Given the description of an element on the screen output the (x, y) to click on. 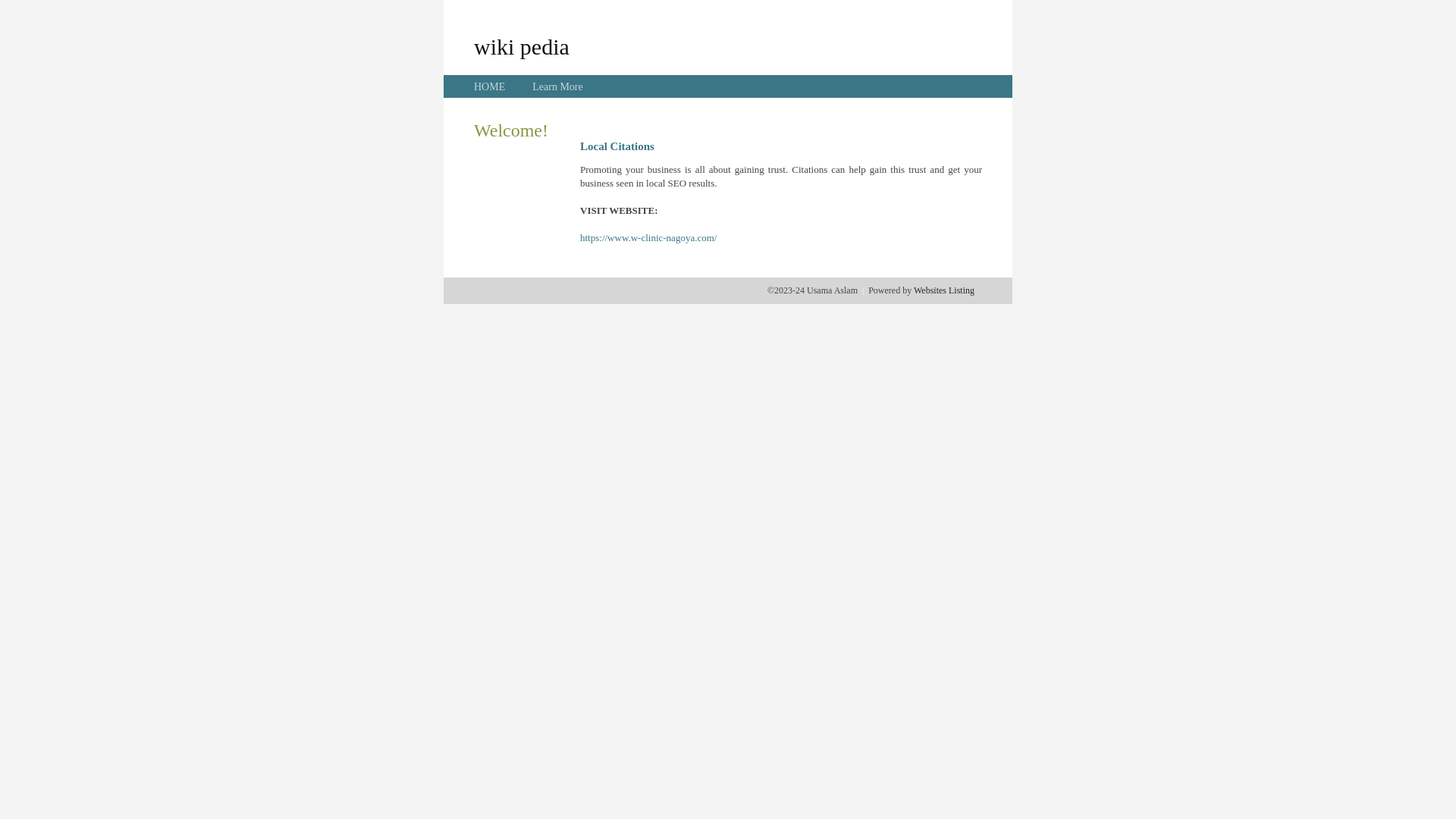
wiki pedia Element type: text (521, 46)
https://www.w-clinic-nagoya.com/ Element type: text (648, 237)
Learn More Element type: text (557, 86)
HOME Element type: text (489, 86)
Websites Listing Element type: text (943, 290)
